Given the description of an element on the screen output the (x, y) to click on. 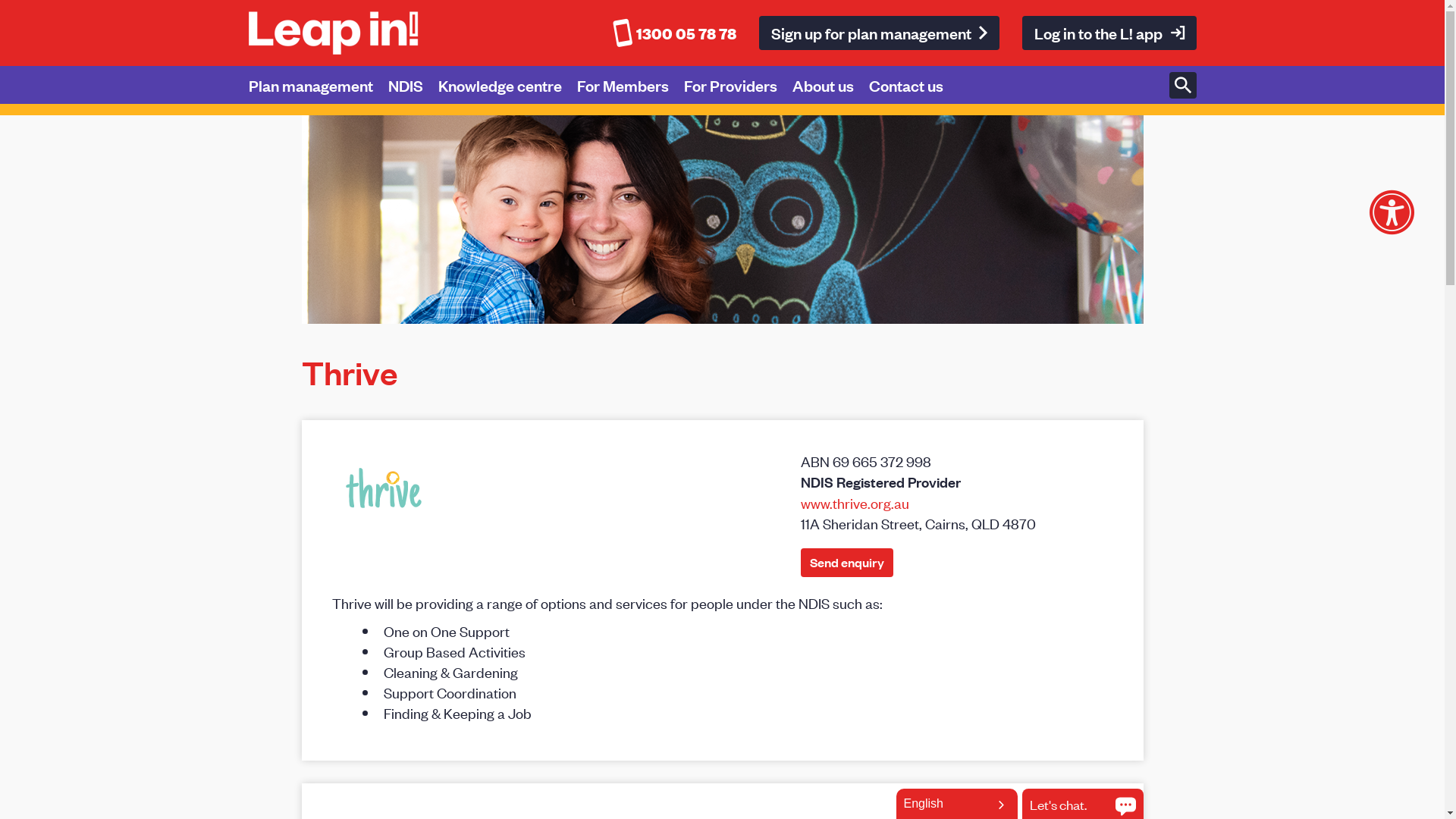
Log in to the L! app Element type: text (1109, 32)
Contact us Element type: text (913, 84)
NDIS Element type: text (413, 84)
About us Element type: text (829, 84)
Plan management Element type: text (318, 84)
Send enquiry Element type: text (846, 562)
Sign up for plan management Element type: text (878, 32)
For Members Element type: text (629, 84)
For Providers Element type: text (738, 84)
www.thrive.org.au Element type: text (854, 501)
Knowledge centre Element type: text (507, 84)
